Given the description of an element on the screen output the (x, y) to click on. 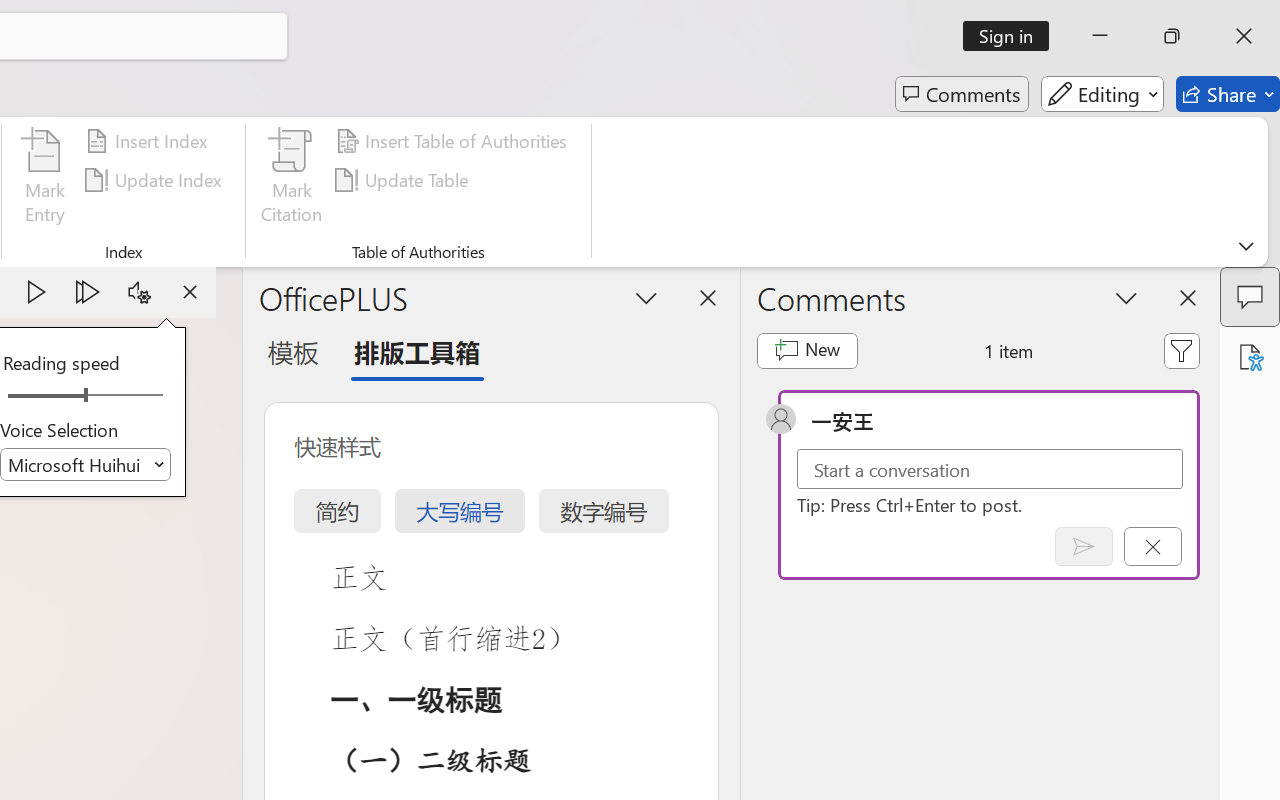
Cancel (1152, 546)
Voice Selection (85, 464)
Sign in (1012, 35)
Insert Table of Authorities... (453, 141)
Mark Entry... (44, 179)
Page right (129, 395)
Next Paragraph (87, 292)
